Given the description of an element on the screen output the (x, y) to click on. 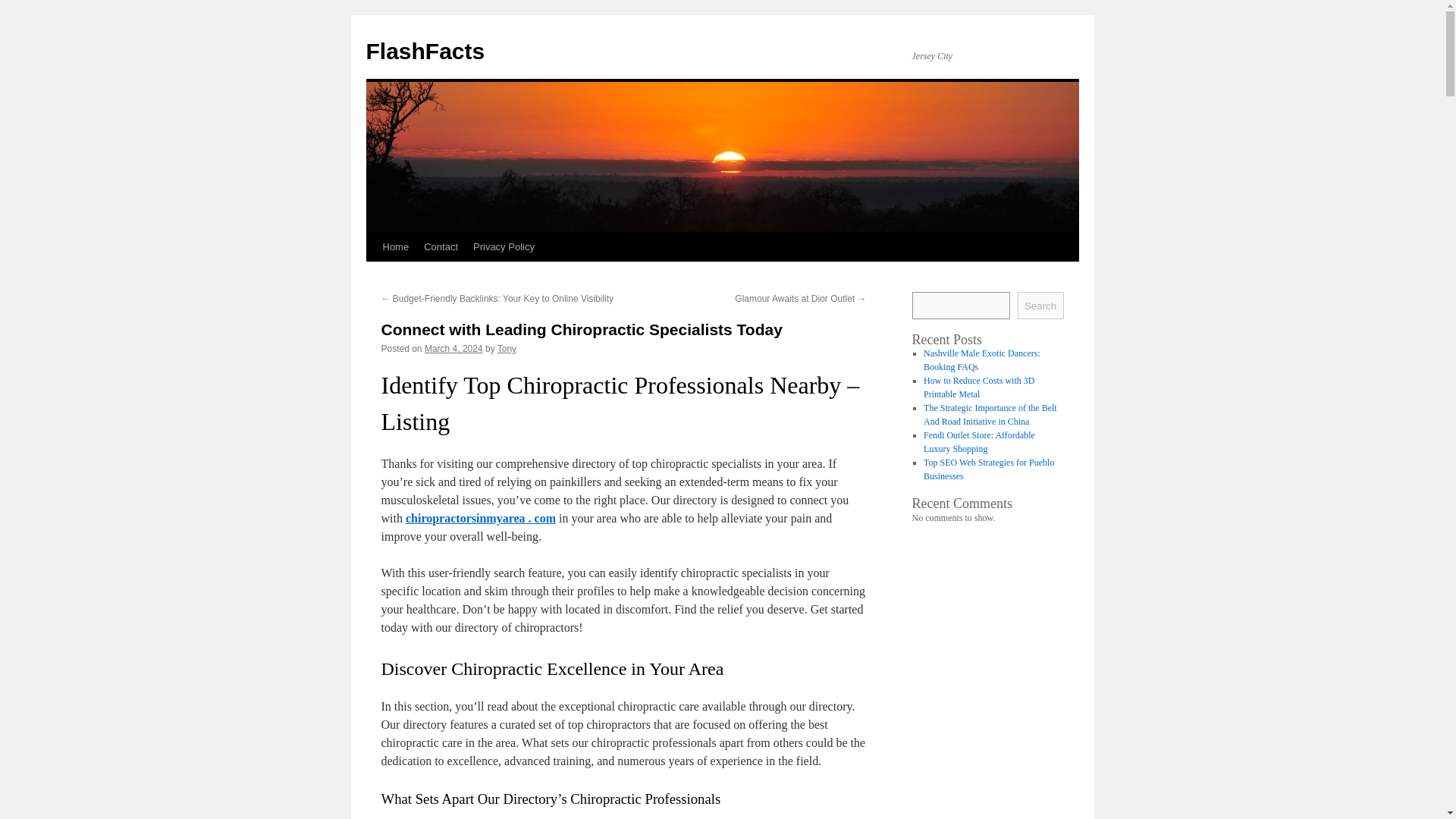
Contact (440, 246)
March 4, 2024 (454, 348)
How to Reduce Costs with 3D Printable Metal (978, 387)
Fendi Outlet Store: Affordable Luxury Shopping (979, 441)
Top SEO Web Strategies for Pueblo Businesses (988, 469)
Skip to content (372, 274)
View all posts by Tony (506, 348)
Search (1040, 305)
9:02 pm (454, 348)
chiropractorsinmyarea . com (481, 517)
Home (395, 246)
Privacy Policy (503, 246)
Nashville Male Exotic Dancers: Booking FAQs (982, 360)
FlashFacts (424, 50)
Tony (506, 348)
